Given the description of an element on the screen output the (x, y) to click on. 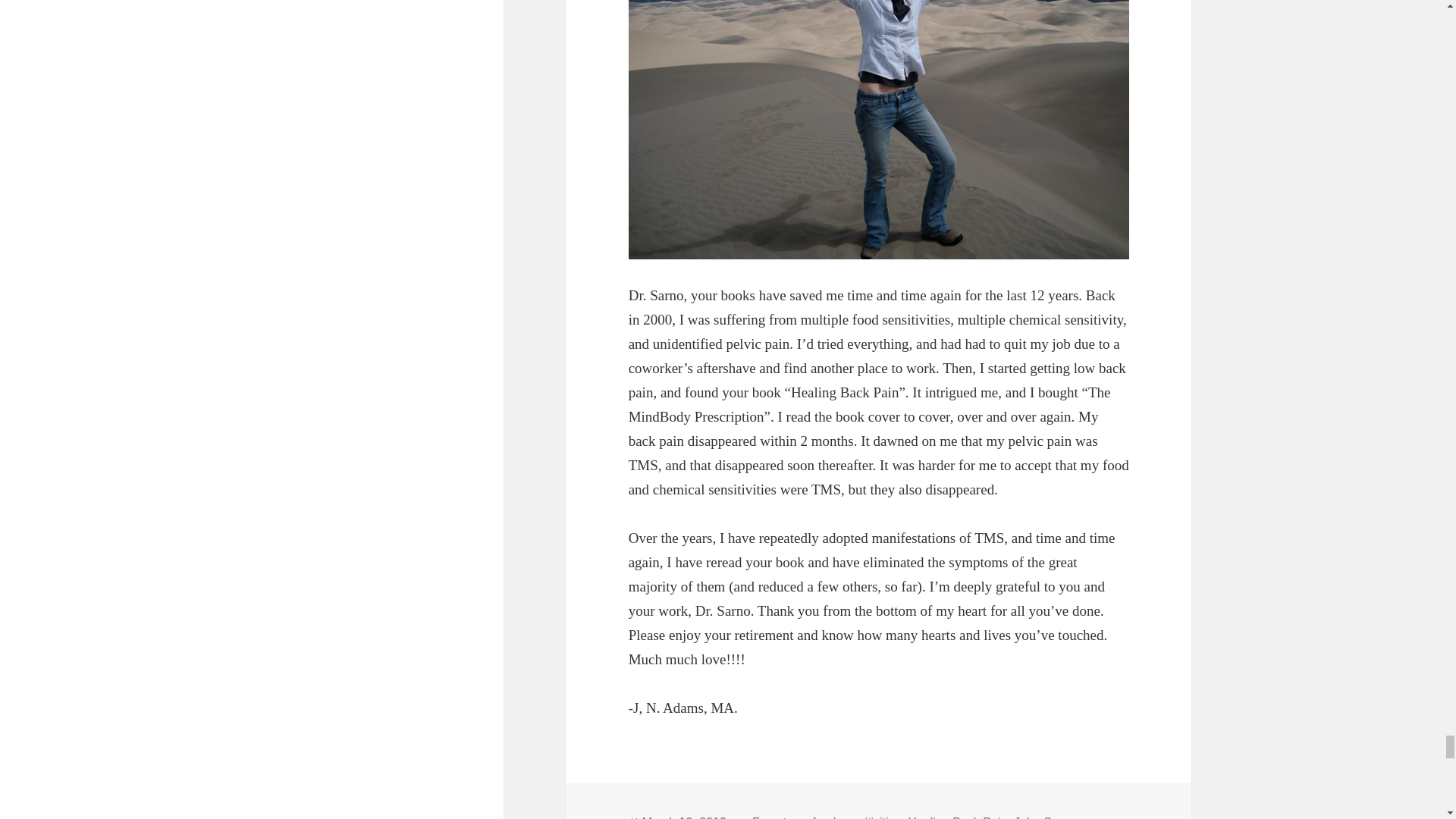
JN (878, 129)
